Given the description of an element on the screen output the (x, y) to click on. 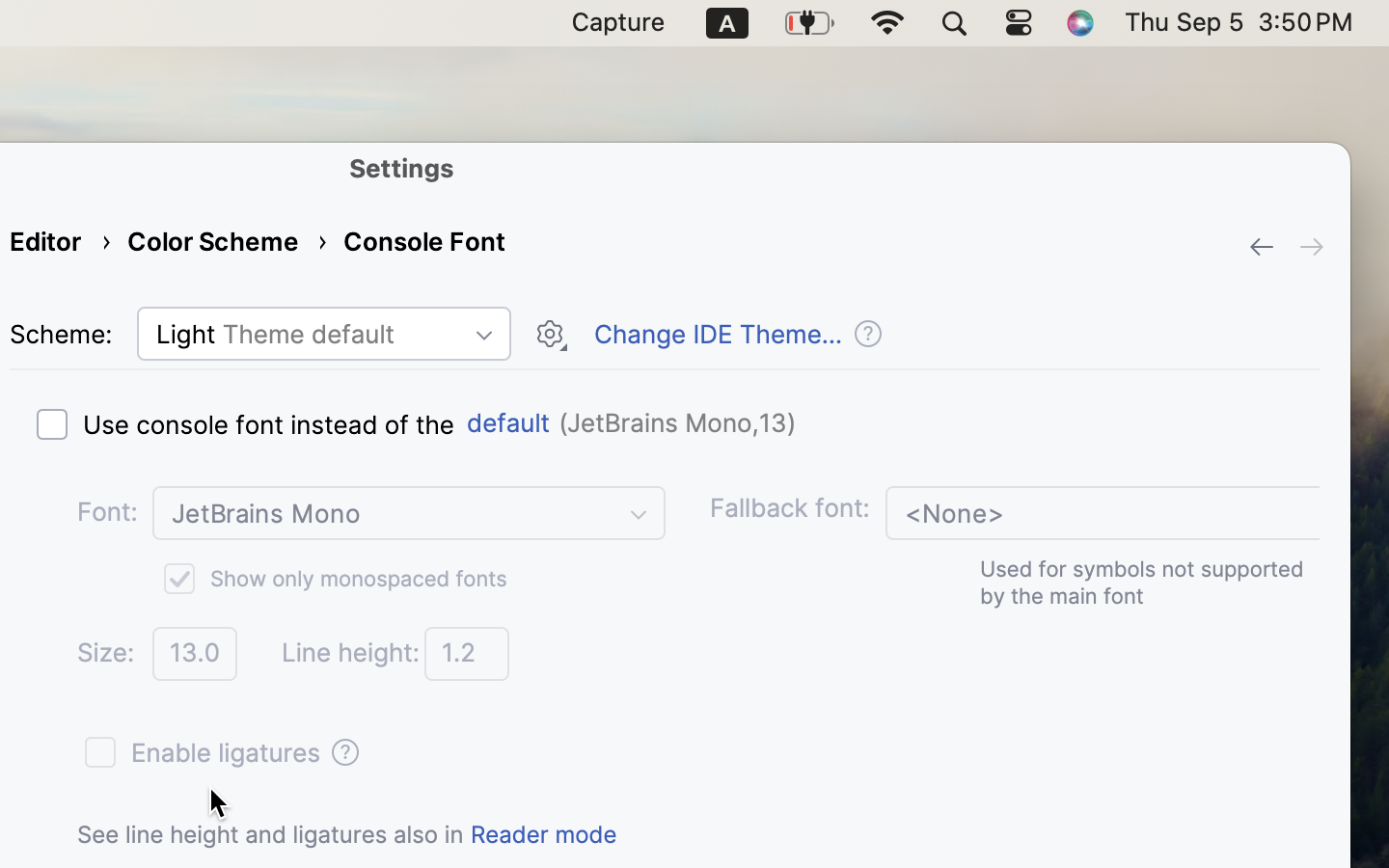
13.0 Element type: AXTextField (194, 653)
JetBrains Mono Element type: AXPopUpButton (408, 512)
Font: Element type: AXStaticText (106, 511)
Size: Element type: AXStaticText (106, 652)
Light Theme default Element type: AXPopUpButton (324, 333)
